Given the description of an element on the screen output the (x, y) to click on. 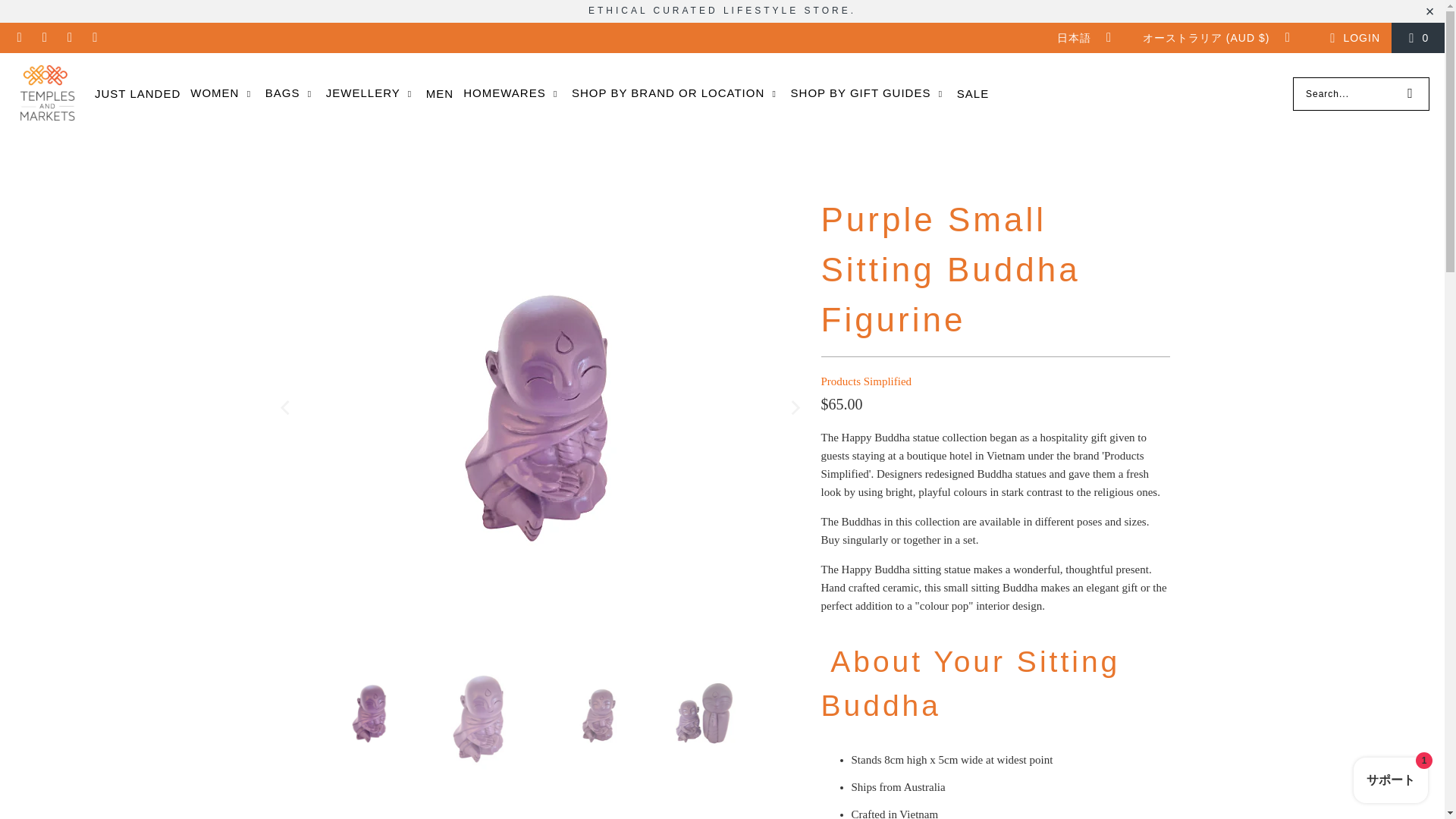
Temples and Markets on Facebook (43, 37)
Temples and Markets on Instagram (69, 37)
Temples and Markets (47, 93)
Email Temples and Markets (18, 37)
Products Simplified (866, 381)
Temples and Markets on Pinterest (94, 37)
My Account  (1352, 37)
